Given the description of an element on the screen output the (x, y) to click on. 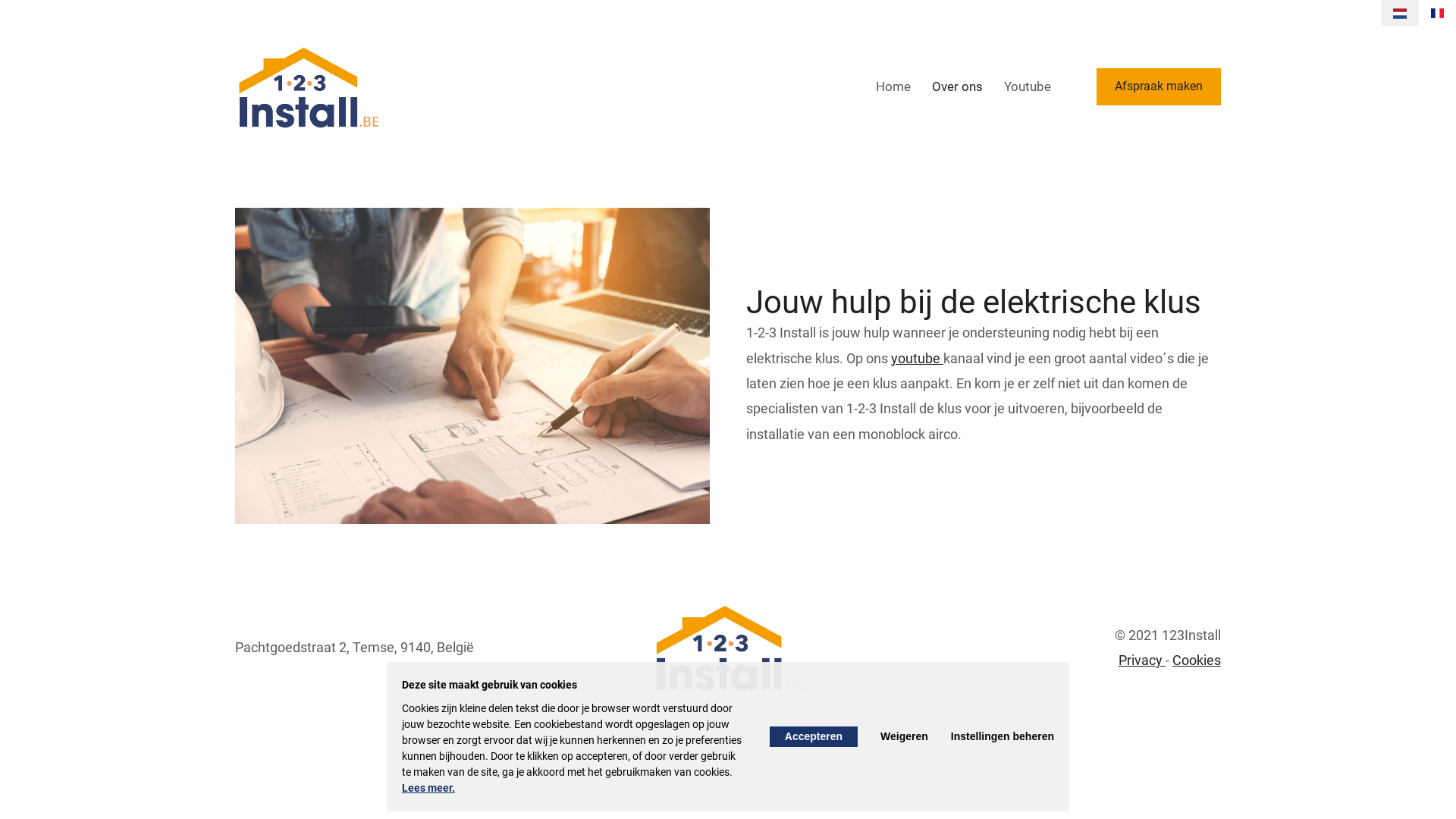
Afspraak maken Element type: text (1158, 86)
Lees meer. Element type: text (428, 787)
Instellingen beheren Element type: text (1002, 736)
Privacy Element type: text (1141, 660)
Youtube Element type: text (1027, 86)
Cookies Element type: text (1196, 660)
Home Element type: text (892, 86)
Weigeren Element type: text (904, 736)
Over ons Element type: text (956, 86)
youtube Element type: text (917, 358)
Nederlands Element type: text (1399, 13)
Accepteren Element type: text (813, 736)
